Given the description of an element on the screen output the (x, y) to click on. 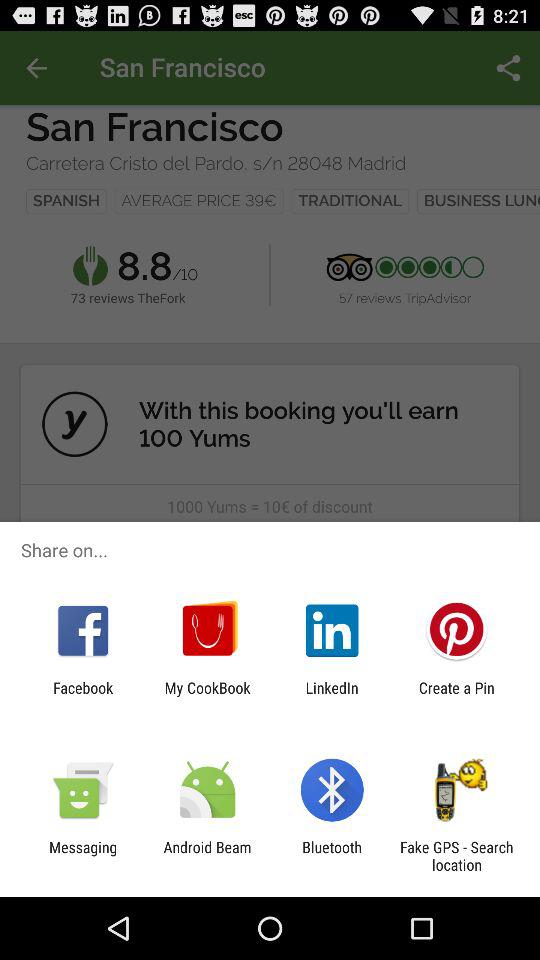
flip to messaging app (83, 856)
